Given the description of an element on the screen output the (x, y) to click on. 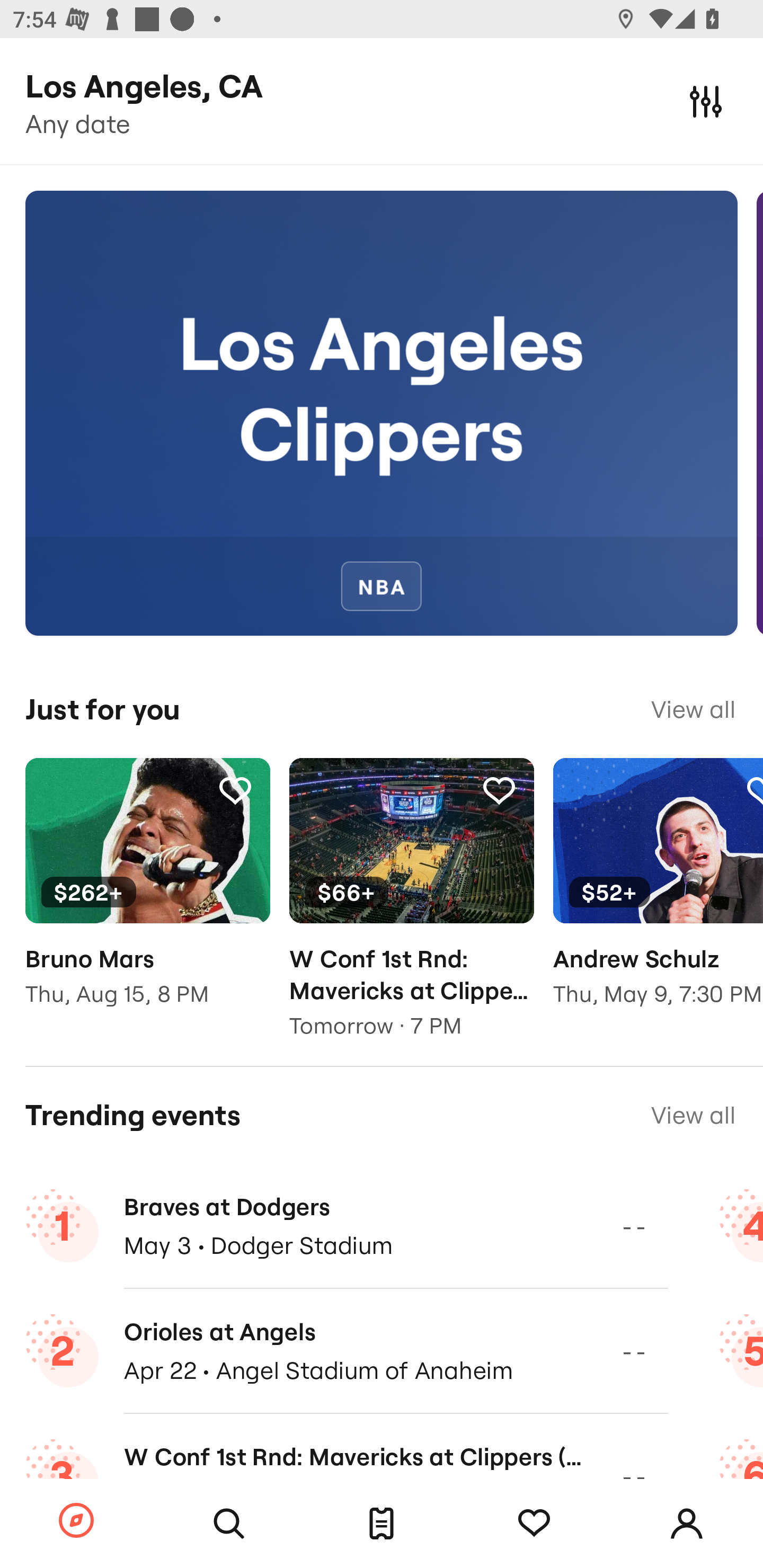
Filters (705, 100)
View all (693, 709)
Tracking $262+ Bruno Mars Thu, Aug 15, 8 PM (147, 895)
Tracking $52+ Andrew Schulz Thu, May 9, 7:30 PM (658, 895)
Tracking (234, 790)
Tracking (498, 790)
View all (693, 1114)
Browse (76, 1521)
Search (228, 1523)
Tickets (381, 1523)
Tracking (533, 1523)
Account (686, 1523)
